Given the description of an element on the screen output the (x, y) to click on. 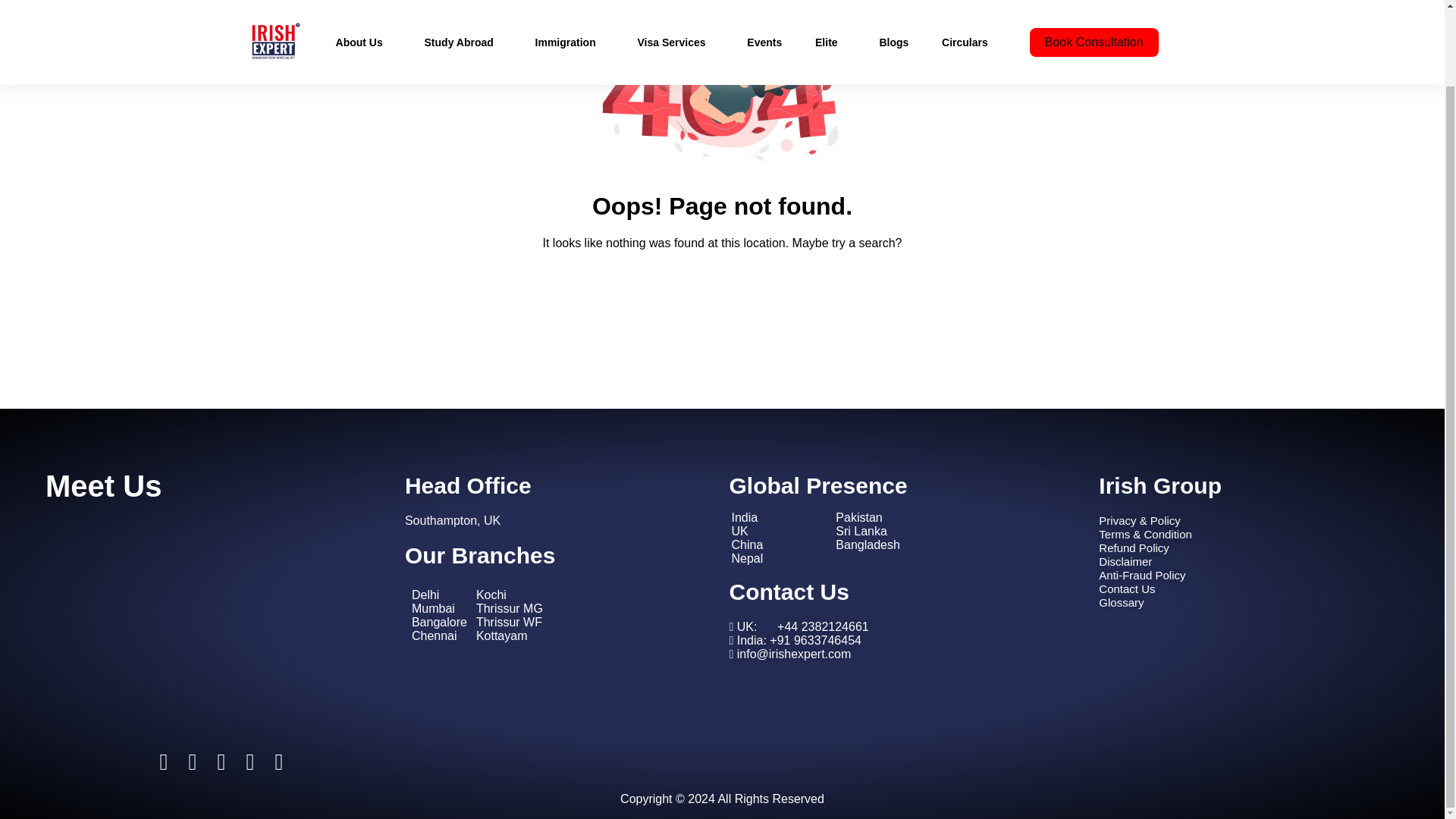
Irish Expert -Overseas (208, 609)
Bangalore (439, 621)
Mumbai (433, 608)
Chennai (434, 635)
China (746, 544)
Sri Lanka (860, 530)
UK (739, 530)
Kottayam (501, 635)
Bangladesh (867, 544)
Kochi (491, 594)
Delhi (425, 594)
Pakistan (858, 517)
Thrissur WF (508, 621)
India (743, 517)
Nepal (746, 558)
